Given the description of an element on the screen output the (x, y) to click on. 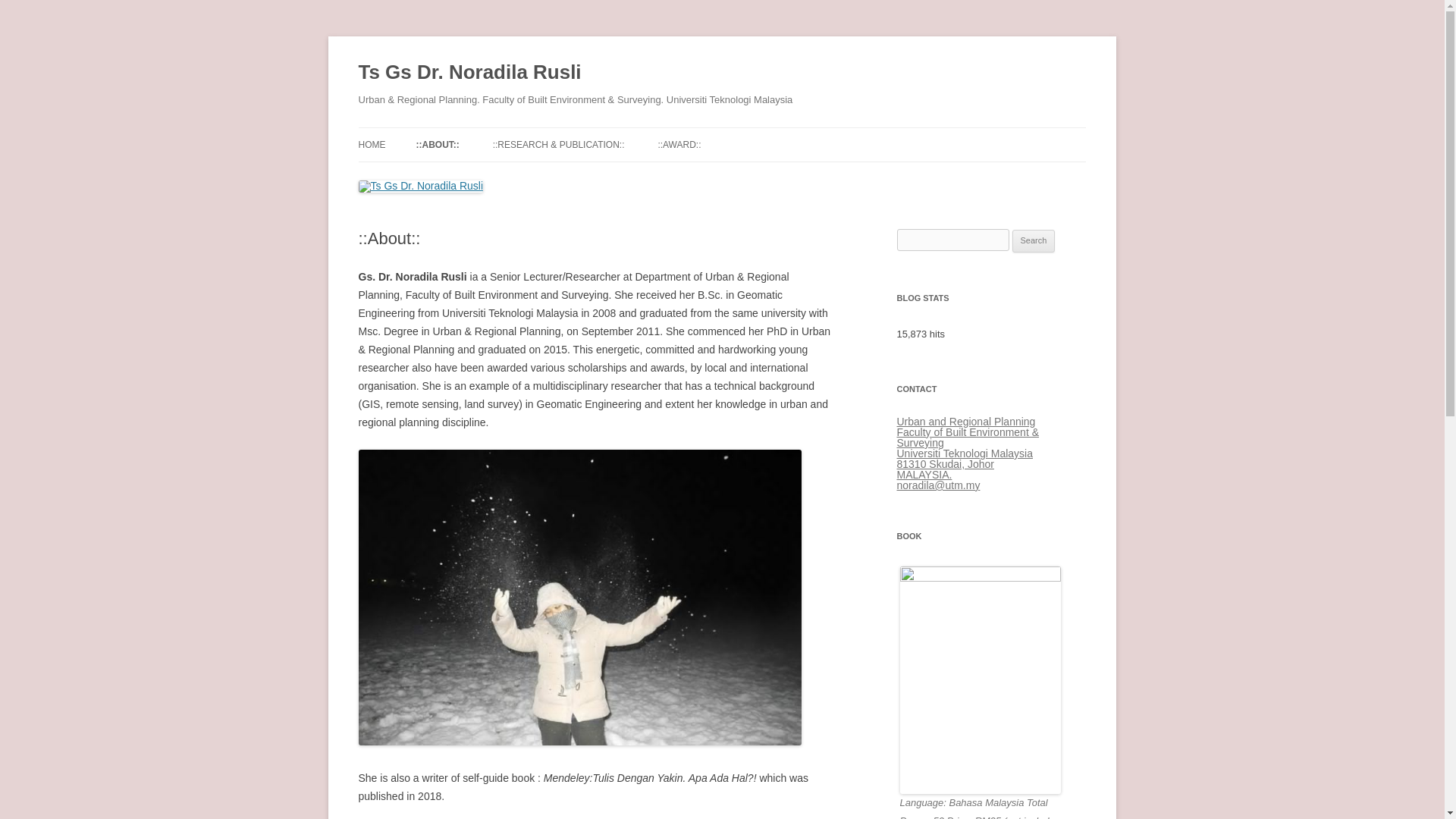
::AWARD:: (679, 144)
Search (1033, 241)
Ts Gs Dr. Noradila Rusli (469, 72)
::ABOUT:: (436, 144)
Search (1033, 241)
